Given the description of an element on the screen output the (x, y) to click on. 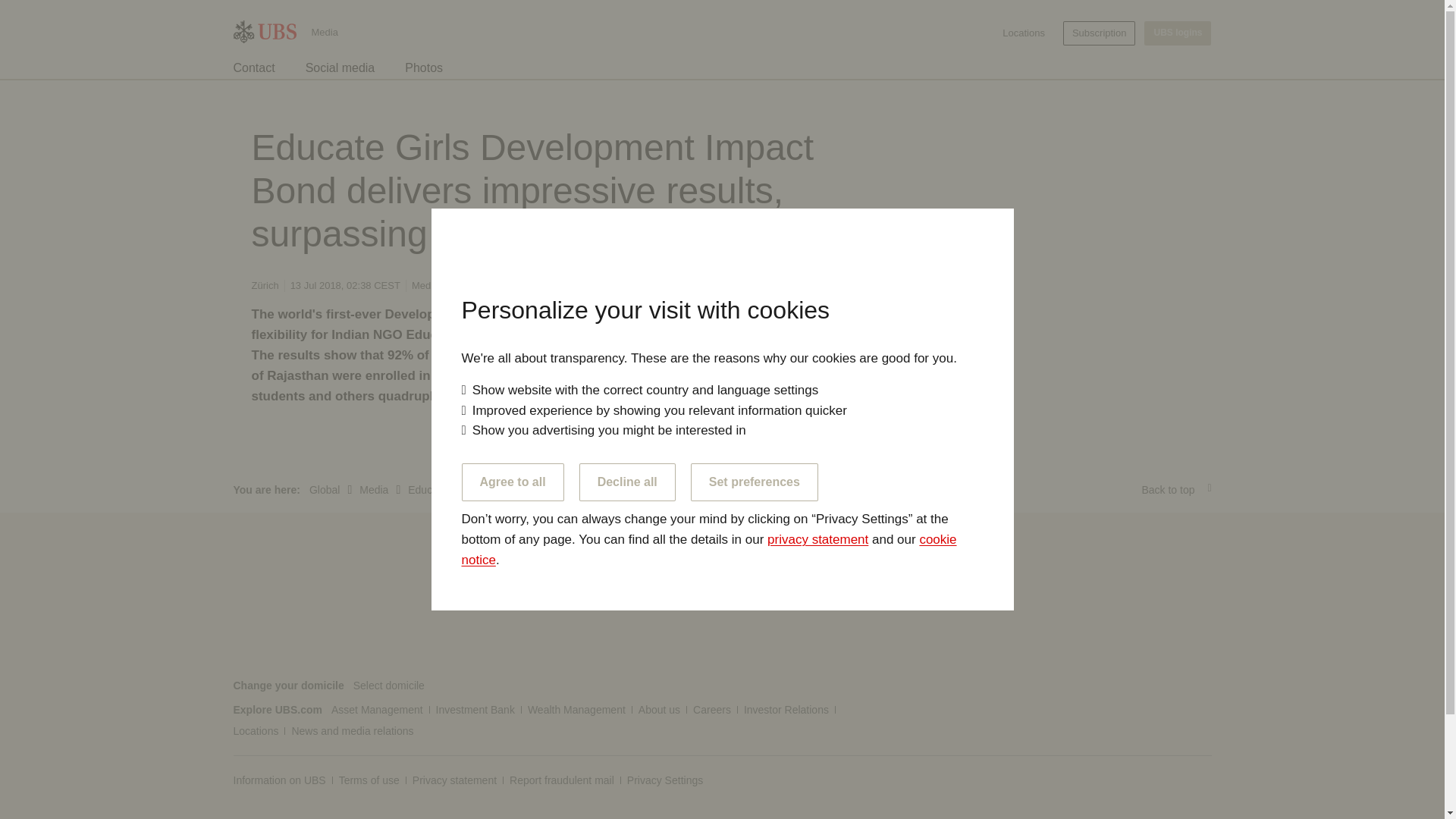
Contact (253, 68)
Search (1201, 67)
Locations (1023, 33)
Subscription (1098, 33)
Media (324, 30)
Photos (423, 68)
Social media (340, 68)
Media (324, 30)
UBS logins (1177, 33)
